Given the description of an element on the screen output the (x, y) to click on. 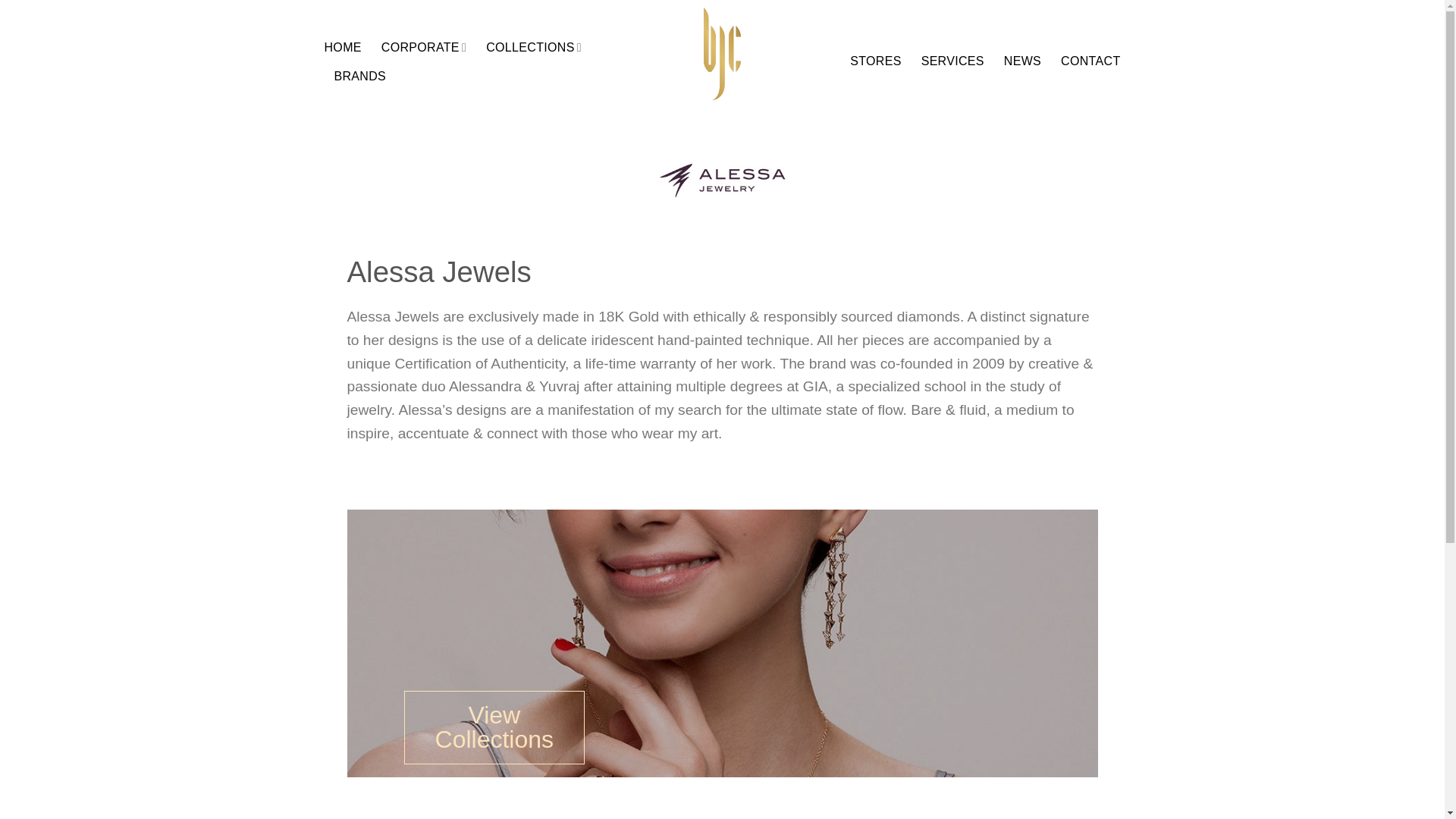
BRANDS (359, 76)
CONTACT (1090, 61)
COLLECTIONS (533, 47)
NEWS (1022, 61)
HOME (342, 47)
CORPORATE (423, 47)
STORES (875, 61)
View Collections (493, 726)
SERVICES (952, 61)
